Given the description of an element on the screen output the (x, y) to click on. 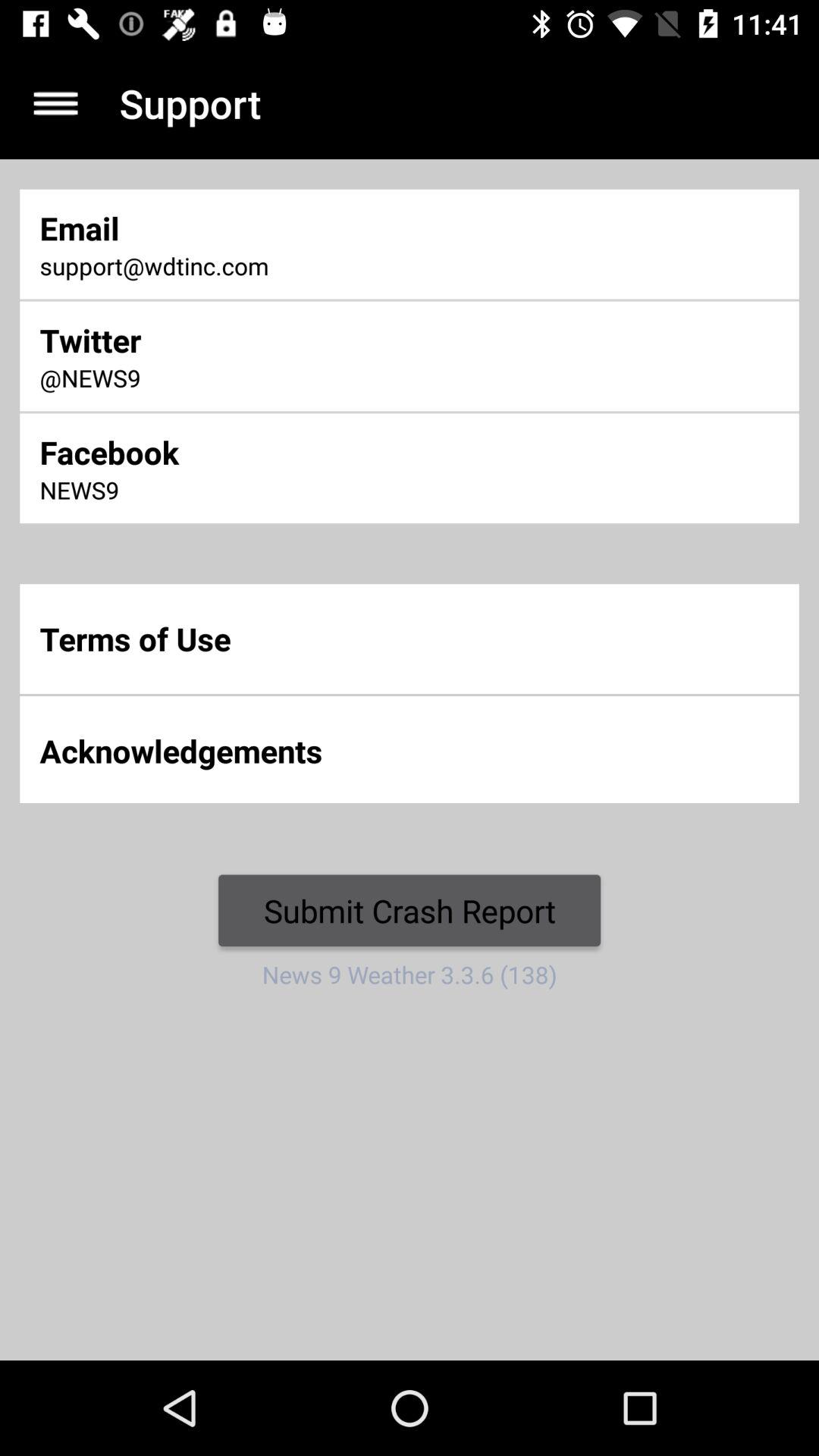
select email icon (272, 227)
